Given the description of an element on the screen output the (x, y) to click on. 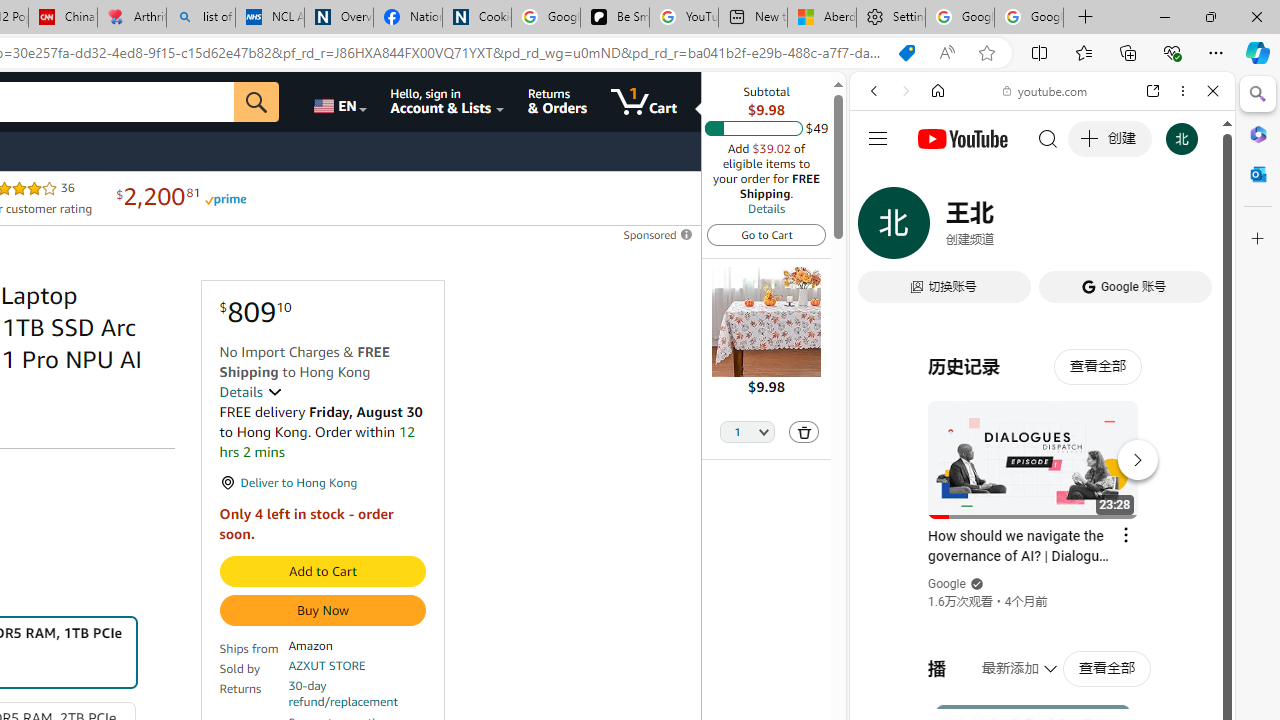
Buy Now (322, 610)
Quantity Selector (747, 433)
